Given the description of an element on the screen output the (x, y) to click on. 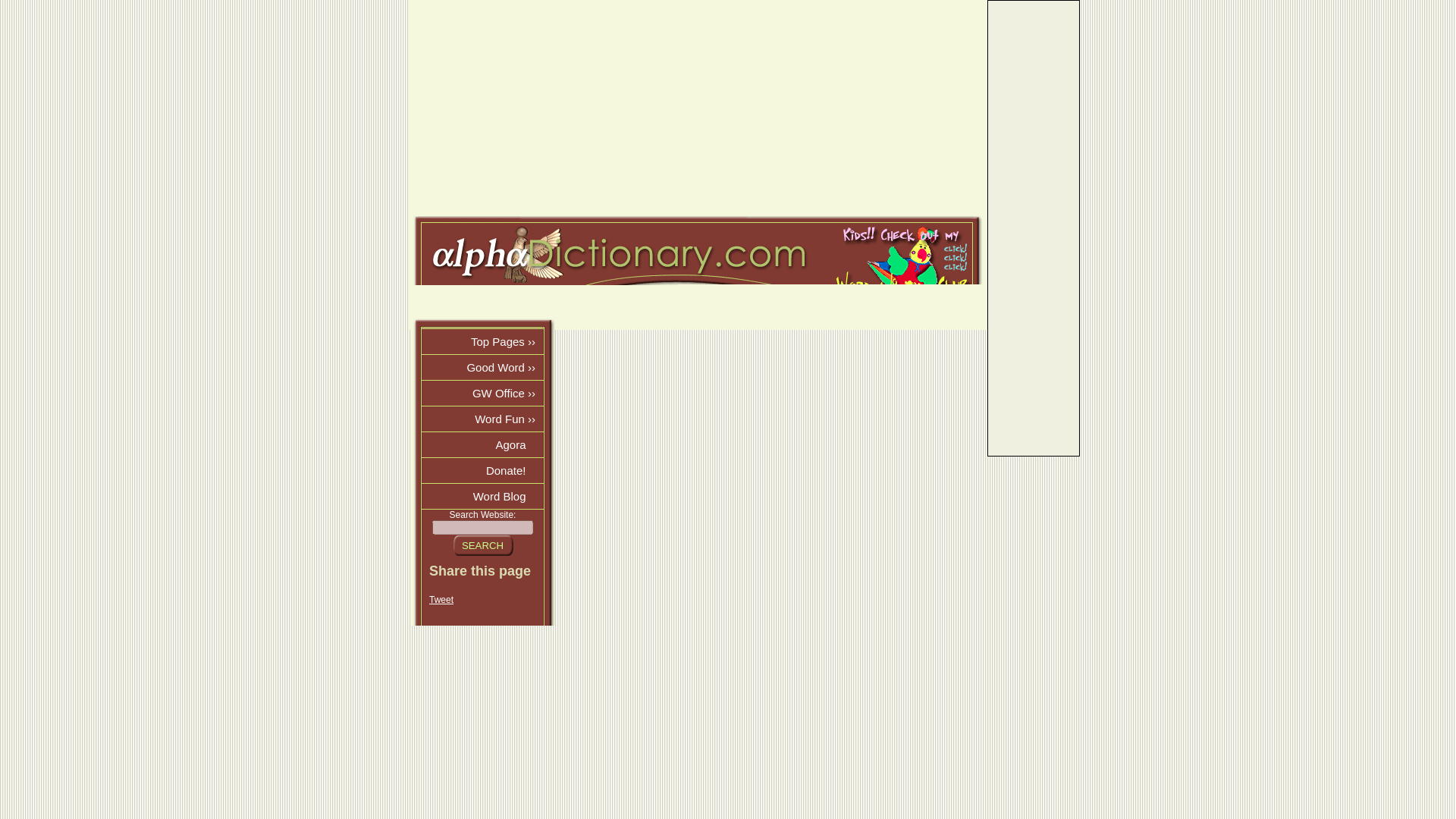
GW Office (482, 392)
Agora (482, 444)
Donate! (482, 470)
Top Pages (482, 341)
Word Fun (482, 418)
Good Word (482, 367)
Search (481, 545)
Tweet (440, 599)
Word Blog (482, 496)
Search (481, 545)
